Given the description of an element on the screen output the (x, y) to click on. 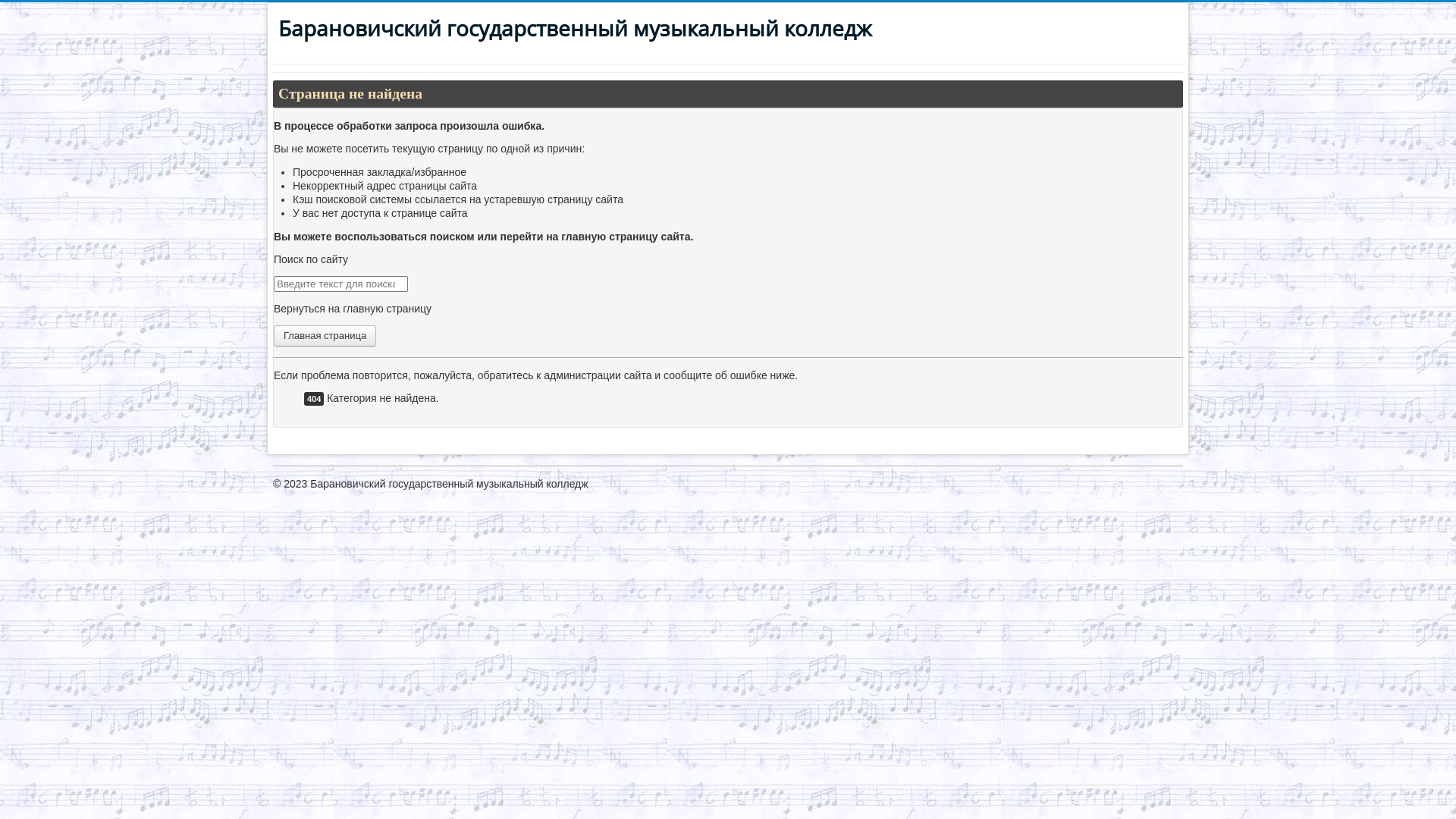
TPL_PROTOSTAR_BACKTOTOP Element type: text (1102, 494)
